Given the description of an element on the screen output the (x, y) to click on. 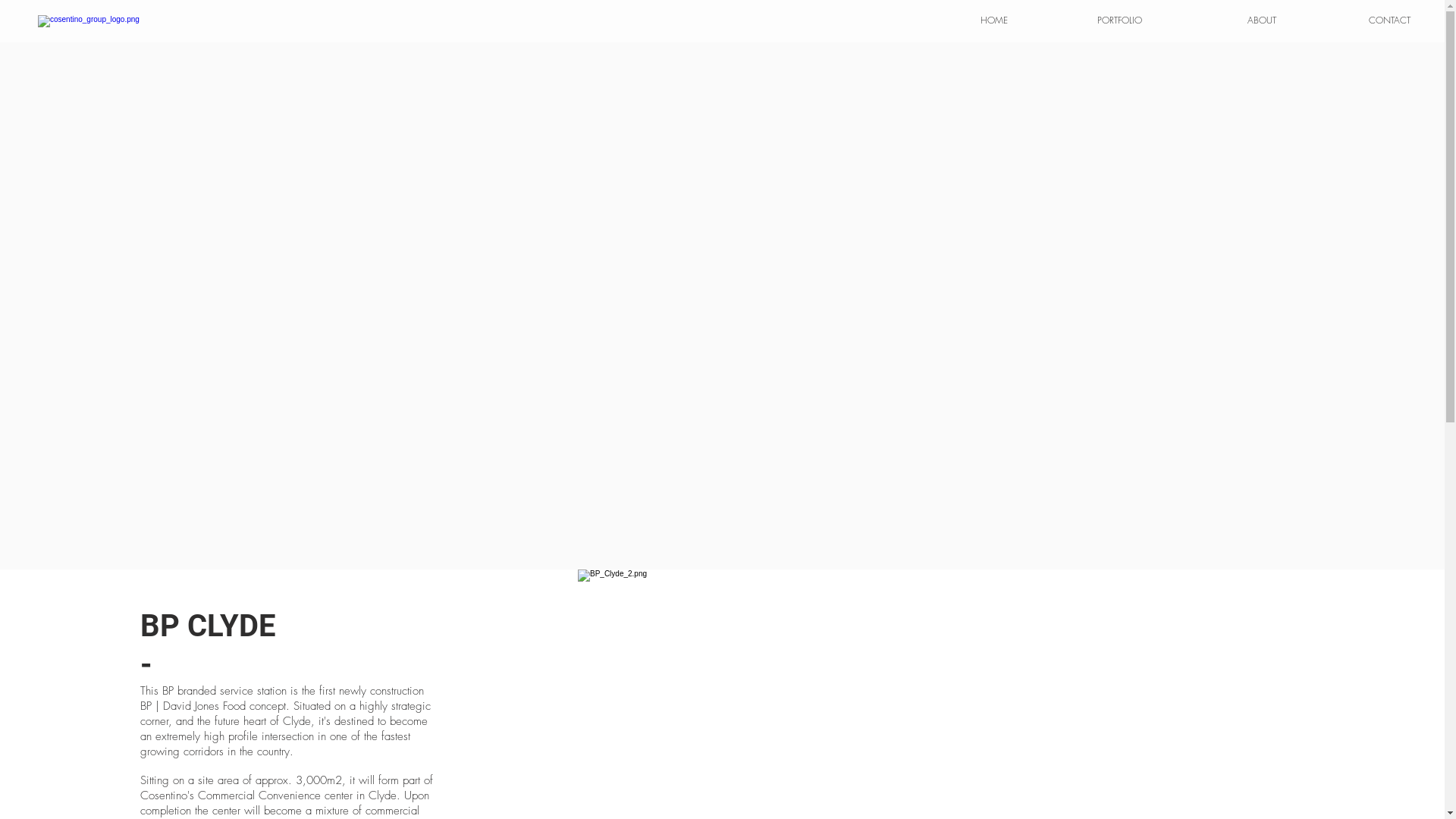
PORTFOLIO Element type: text (1086, 20)
HOME Element type: text (951, 20)
CONTACT Element type: text (1354, 20)
ABOUT Element type: text (1220, 20)
